Given the description of an element on the screen output the (x, y) to click on. 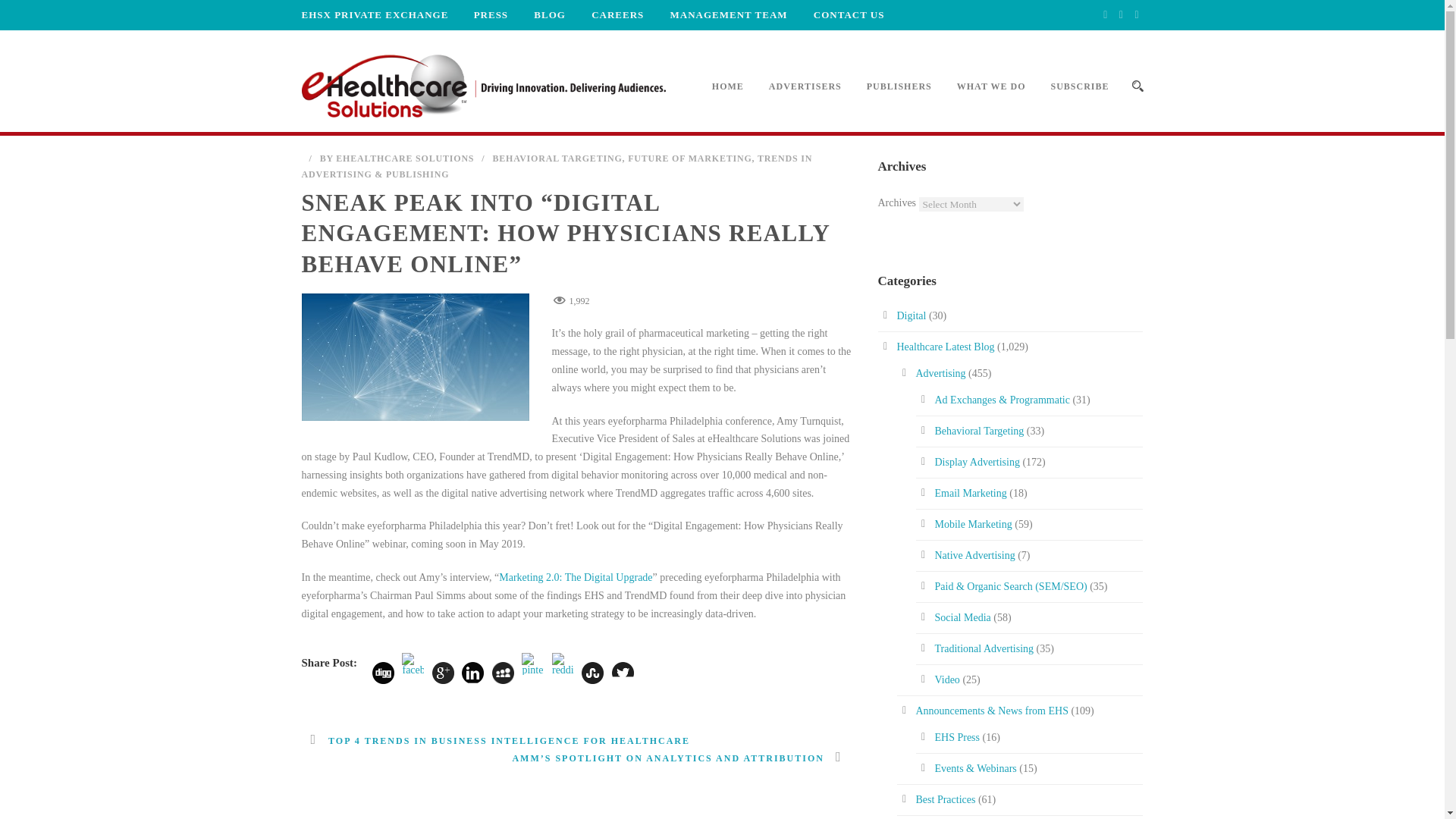
EHEALTHCARE SOLUTIONS (405, 158)
Marketing 2.0: The Digital Upgrade (575, 577)
TOP 4 TRENDS IN BUSINESS INTELLIGENCE FOR HEALTHCARE (495, 740)
CAREERS (607, 14)
FUTURE OF MARKETING (689, 158)
Posts by eHealthcare Solutions (405, 158)
CONTACT US (837, 14)
Healthcare Latest Blog (945, 346)
WHAT WE DO (978, 102)
BEHAVIORAL TARGETING (556, 158)
